Given the description of an element on the screen output the (x, y) to click on. 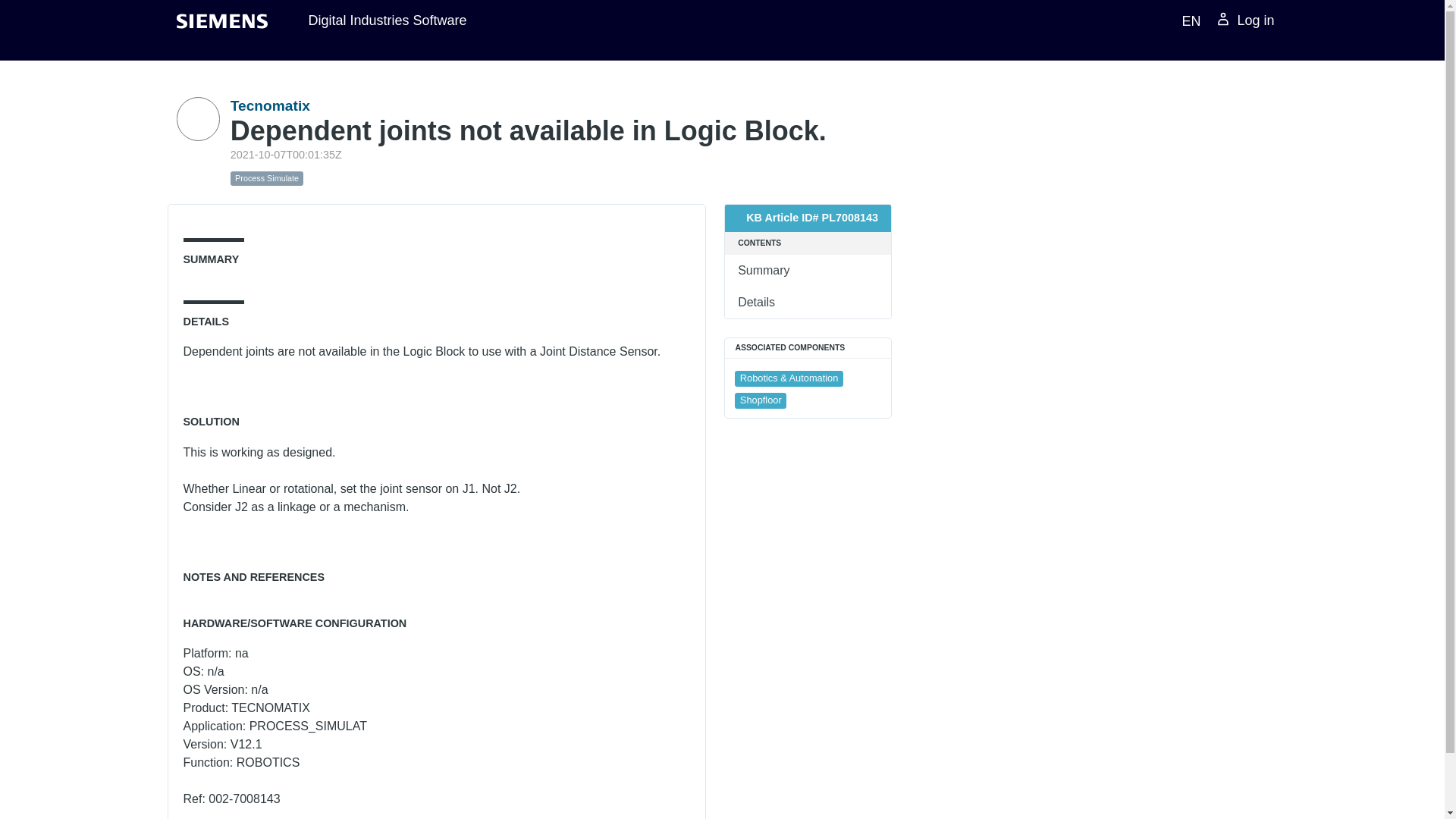
Summary (808, 270)
Digital Industries Software (386, 20)
Log in (1244, 20)
Details (808, 302)
Siemens (221, 20)
EN (1188, 20)
